Given the description of an element on the screen output the (x, y) to click on. 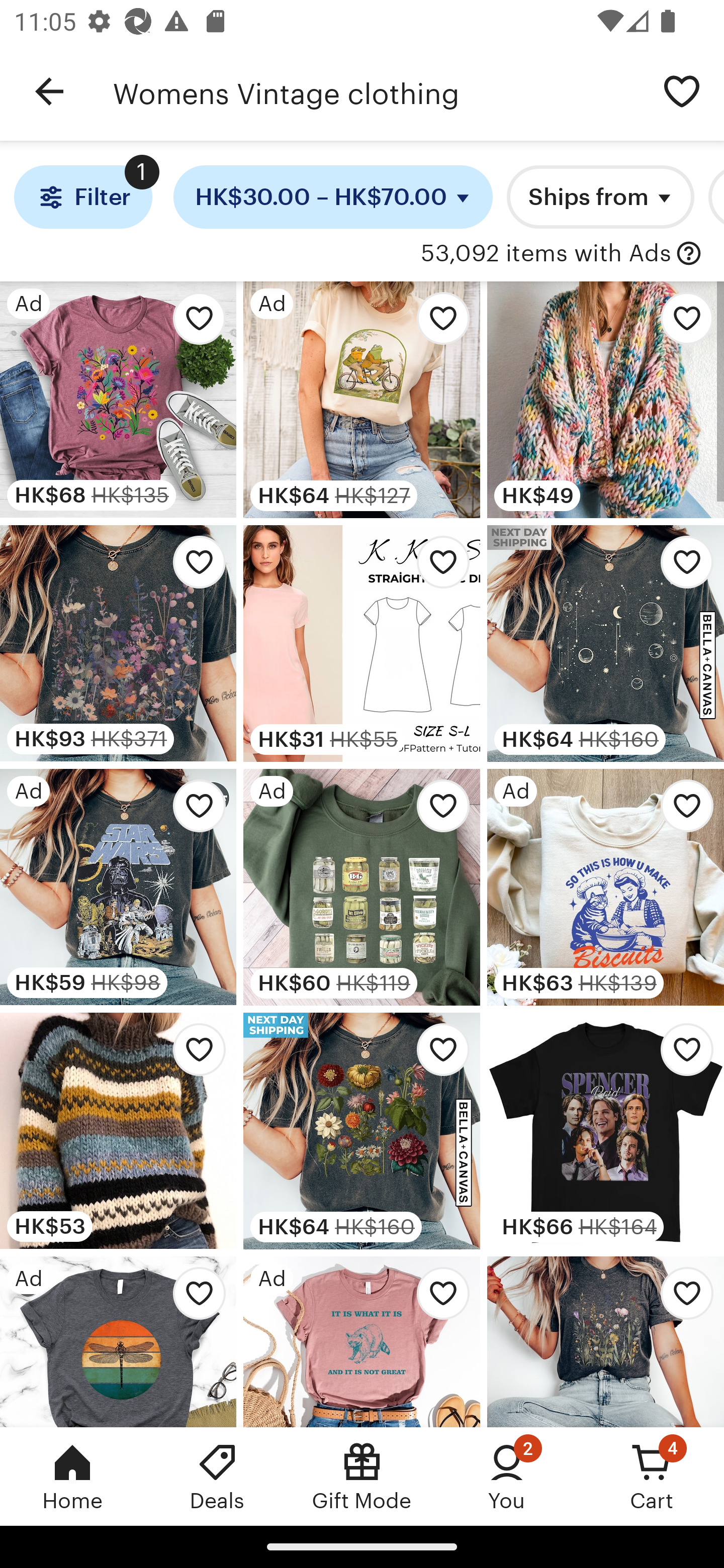
Navigate up (49, 91)
Save search (681, 90)
Womens Vintage clothing (375, 91)
Filter (82, 197)
HK$30.00 – HK$70.00 (333, 197)
Ships from (600, 197)
53,092 items with Ads (545, 253)
with Ads (688, 253)
Deals (216, 1475)
Gift Mode (361, 1475)
You, 2 new notifications You (506, 1475)
Cart, 4 new notifications Cart (651, 1475)
